Given the description of an element on the screen output the (x, y) to click on. 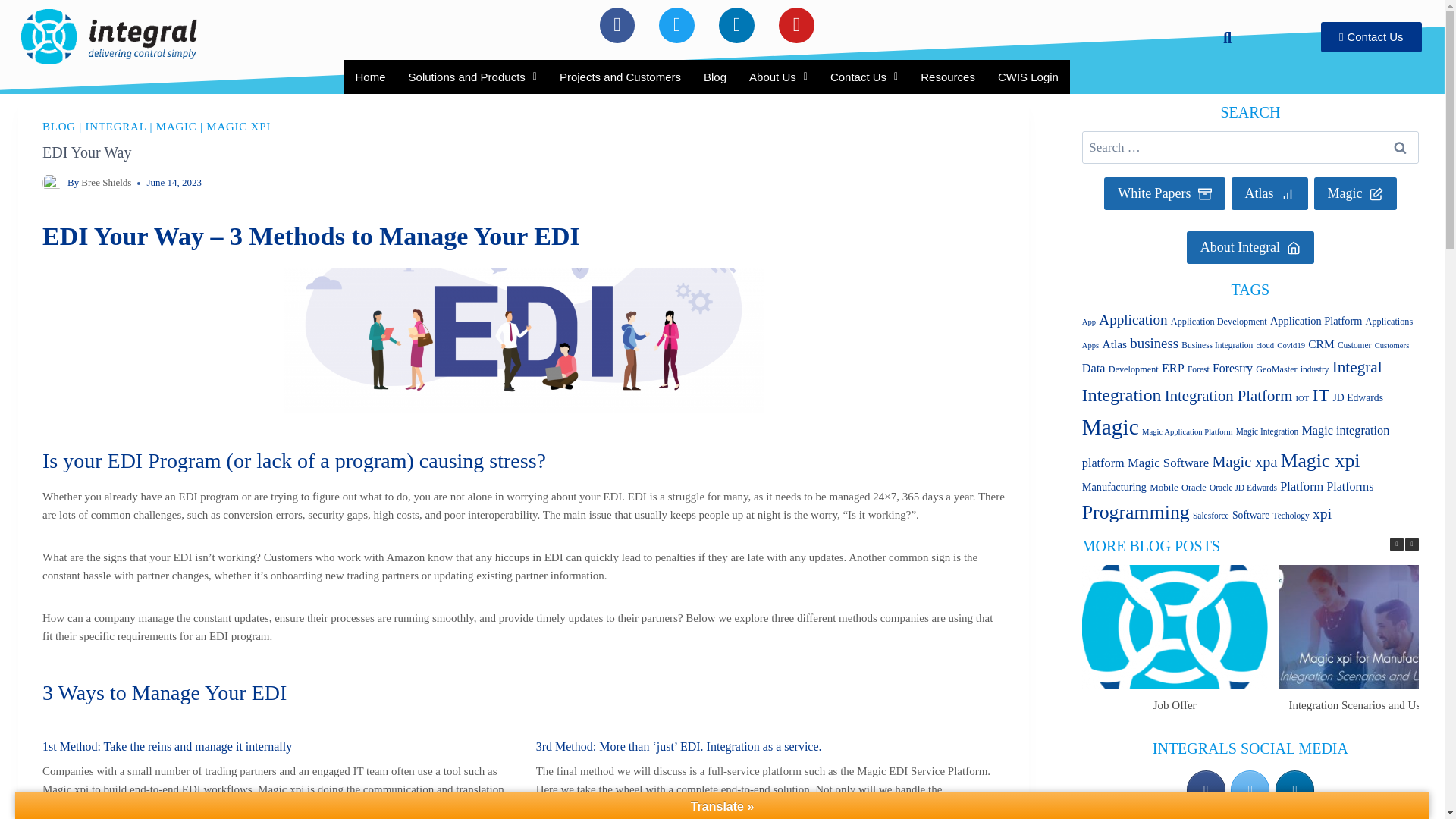
Solutions and Products (472, 76)
Search (1399, 147)
Search (1399, 147)
Home (370, 76)
Search (1220, 37)
